Given the description of an element on the screen output the (x, y) to click on. 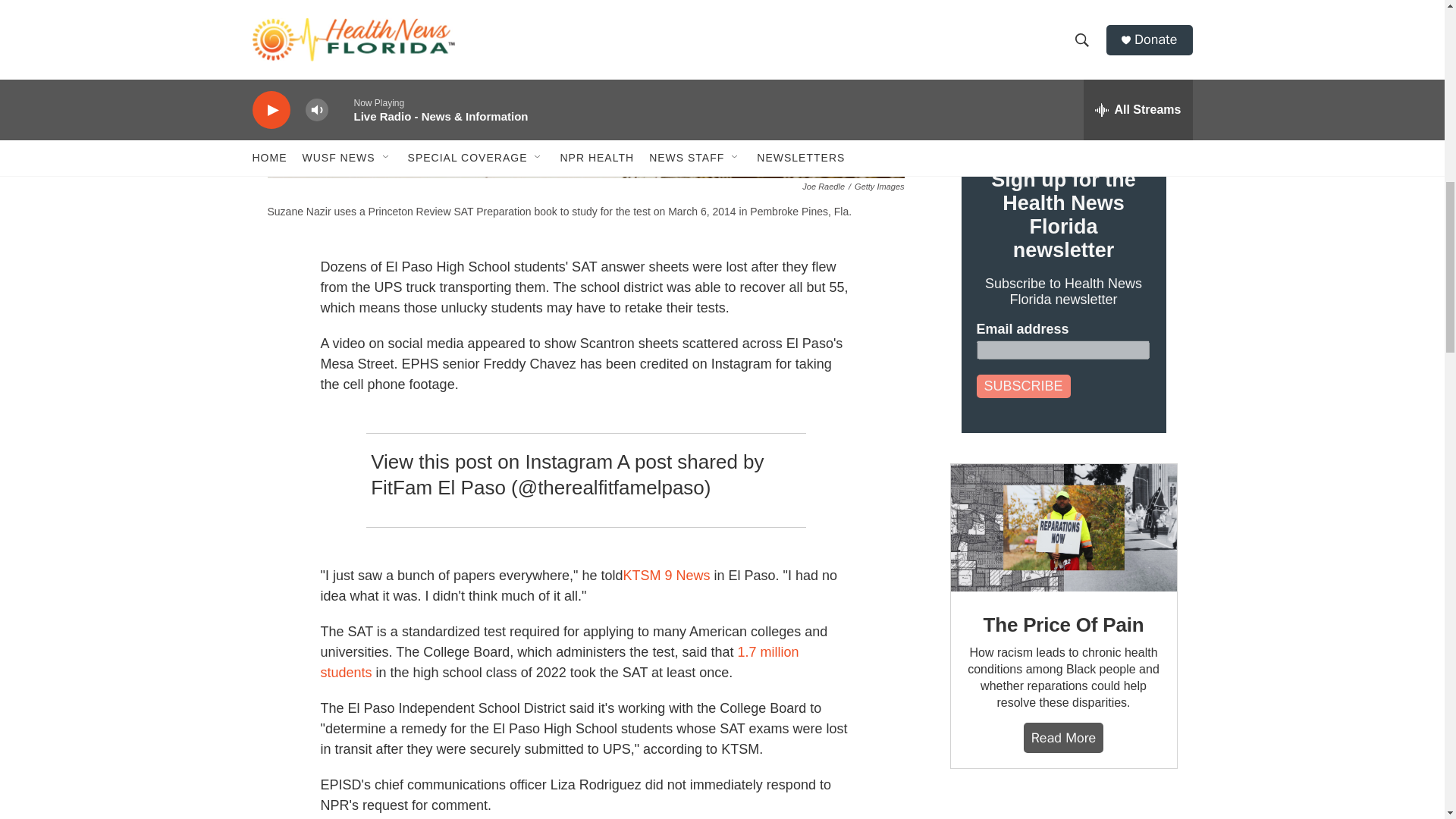
3rd party ad content (1062, 809)
